Given the description of an element on the screen output the (x, y) to click on. 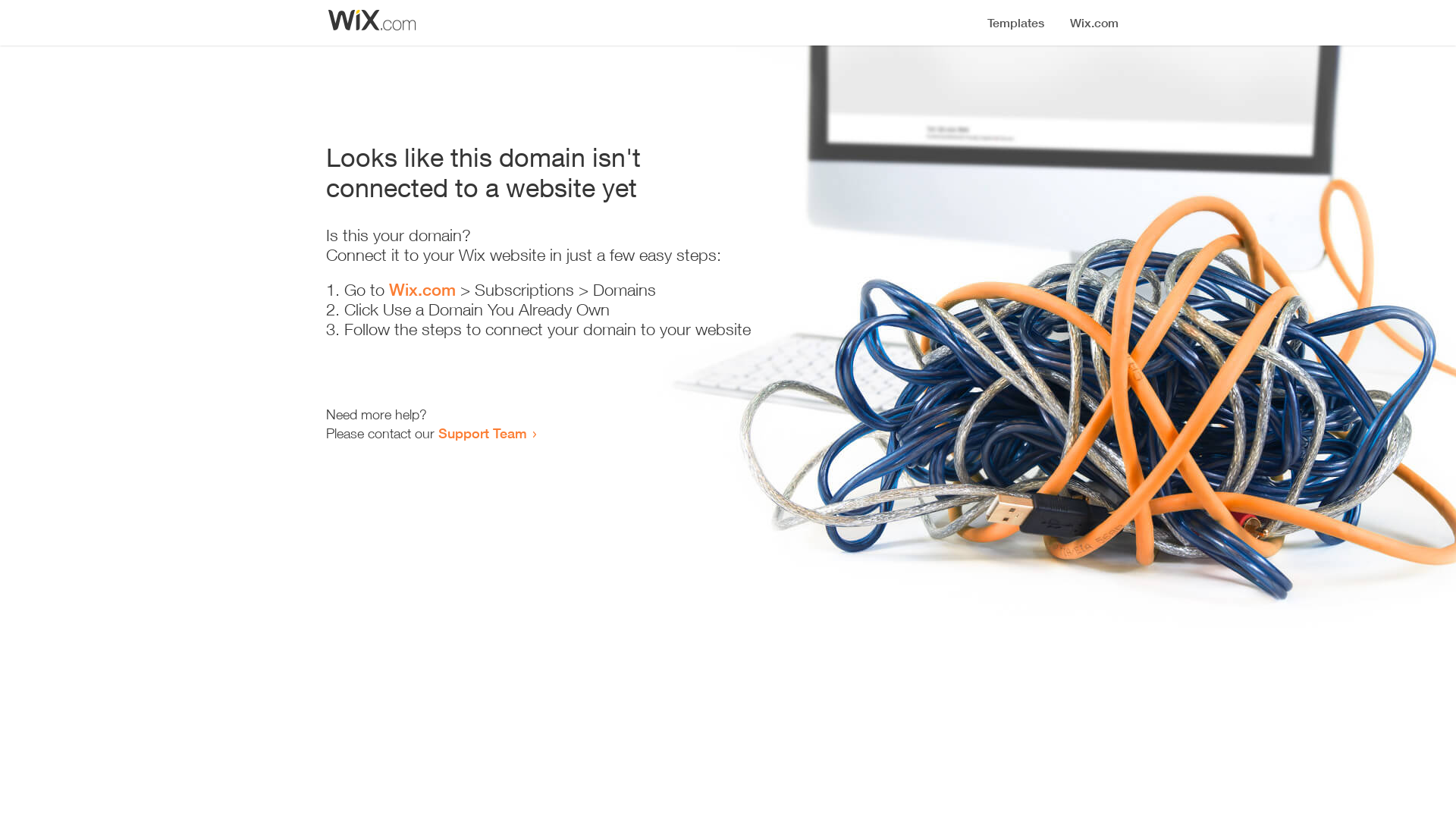
Wix.com Element type: text (422, 289)
Support Team Element type: text (482, 432)
